Given the description of an element on the screen output the (x, y) to click on. 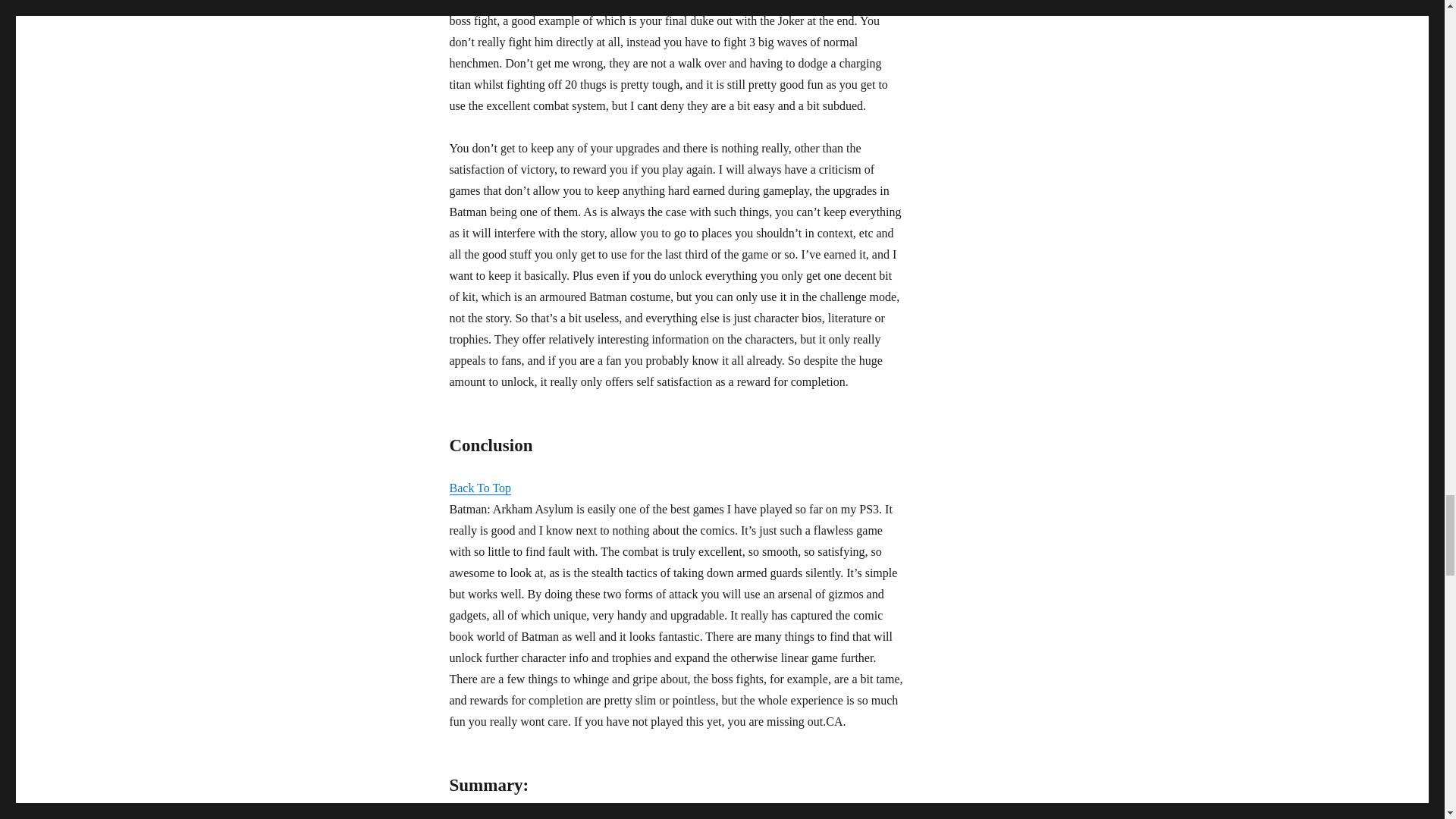
Back To Top (479, 487)
